Given the description of an element on the screen output the (x, y) to click on. 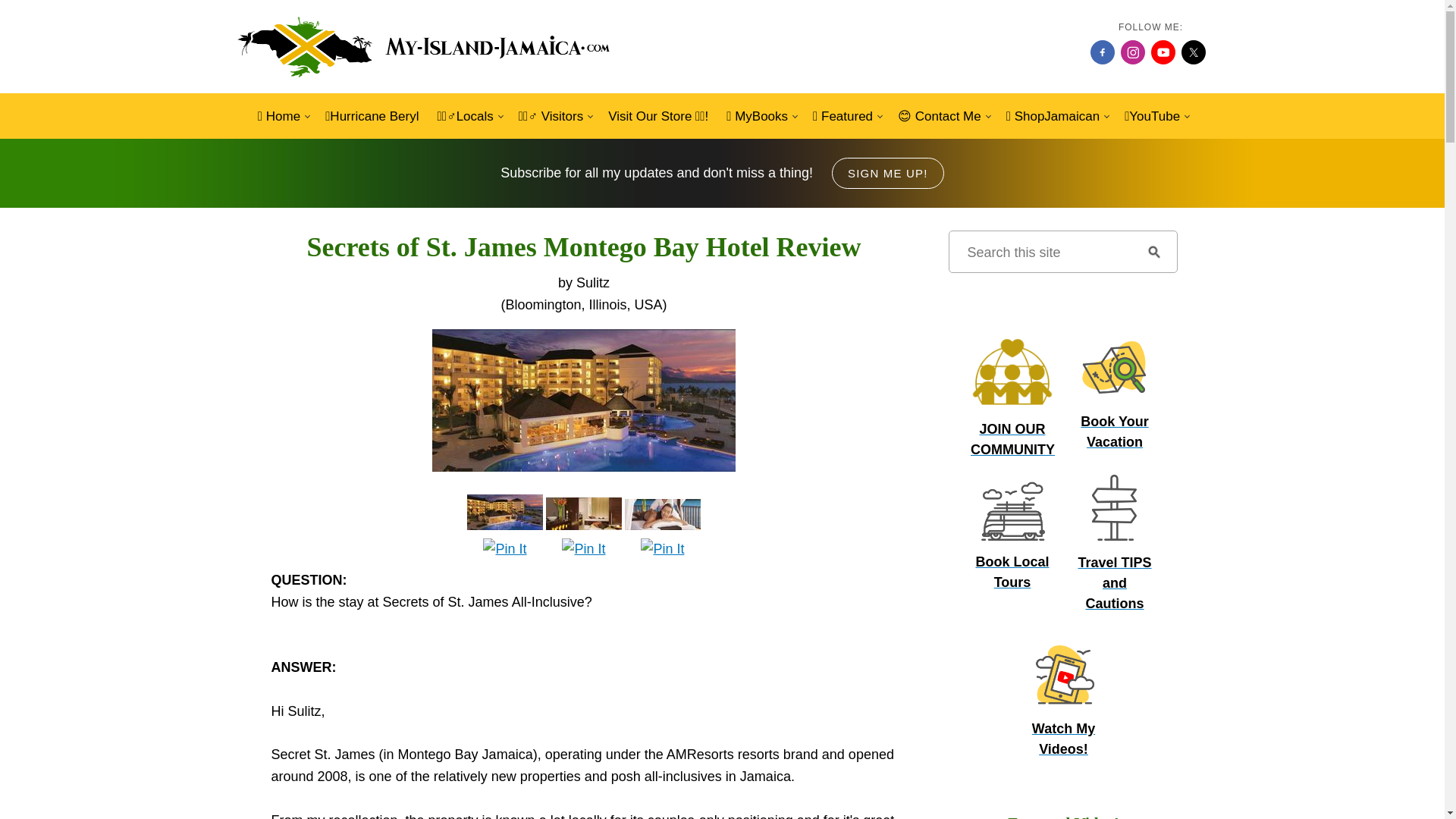
Find Deals On Vacation (1115, 367)
Pin It (504, 549)
Book Local Tours (1012, 509)
MY WEBSITE (423, 46)
Secrets St. James Spa (662, 513)
Go to Jamaica Private Tours (1012, 564)
JOIN OUR PRIVATE COMMUNITY (1012, 371)
Secrets St. James Accomodation (583, 513)
Search this site (1040, 250)
Search this site (1040, 250)
Pin It (583, 549)
Go (1153, 250)
Pin It (662, 549)
